Given the description of an element on the screen output the (x, y) to click on. 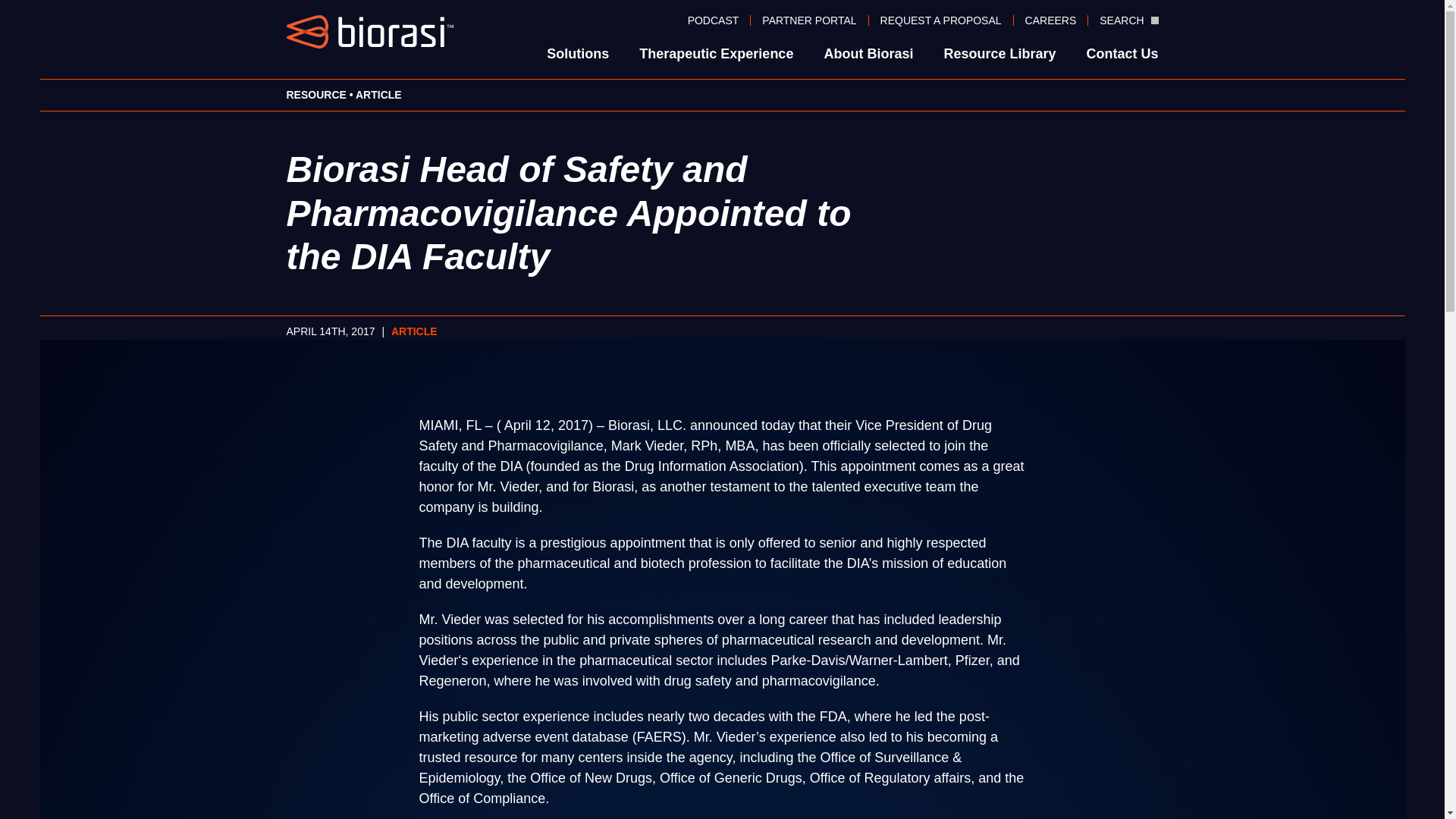
REQUEST A PROPOSAL (941, 20)
PODCAST (714, 20)
PARTNER PORTAL (809, 20)
CAREERS (1051, 20)
